Given the description of an element on the screen output the (x, y) to click on. 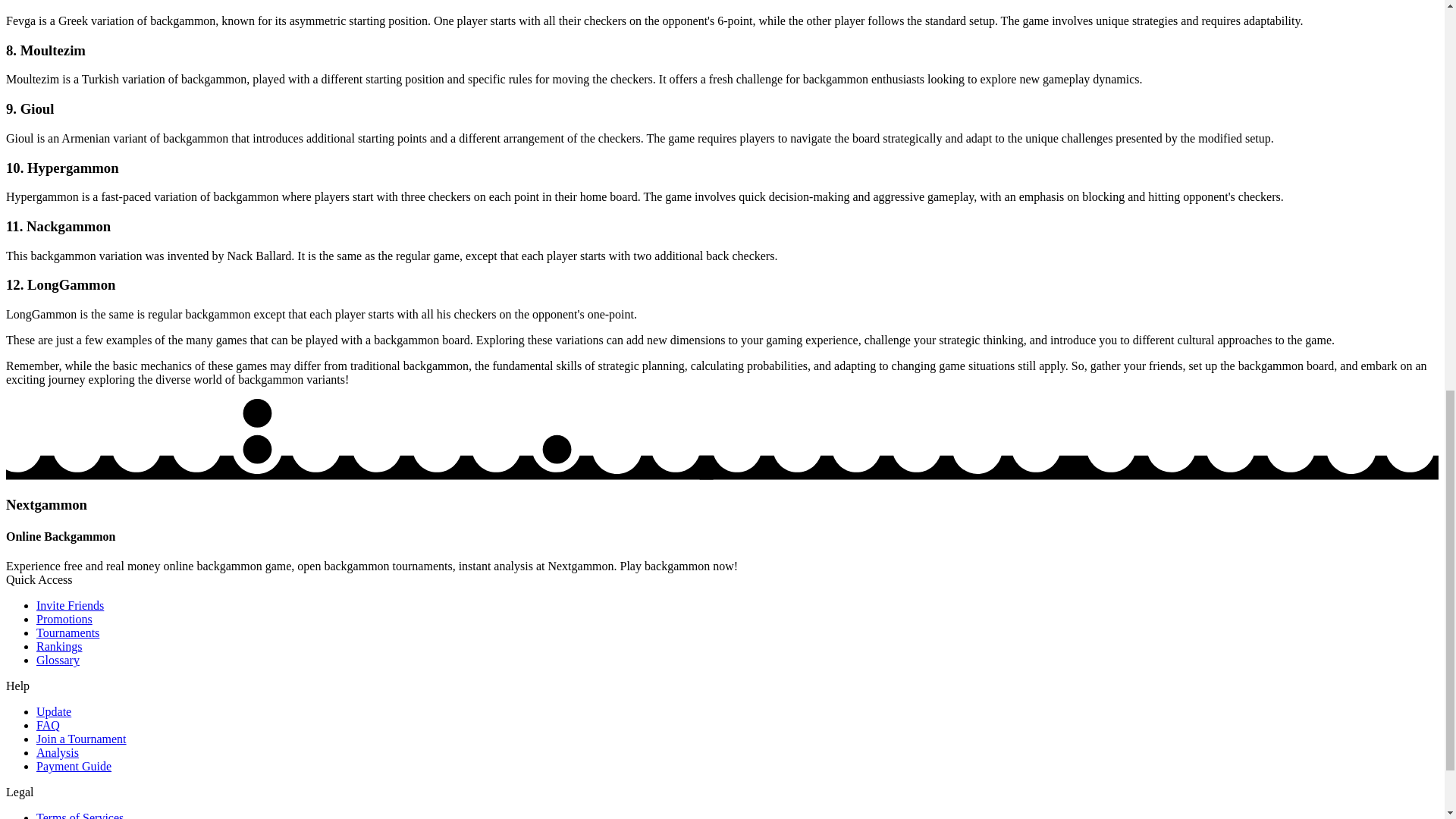
Rankings (58, 645)
Glossary (58, 659)
Payment Guide (74, 766)
Join a Tournament (81, 738)
Analysis (57, 752)
Invite Friends (69, 604)
Tournaments (67, 632)
FAQ (47, 725)
Terms of Services (79, 815)
Promotions (64, 618)
Update (53, 711)
